Given the description of an element on the screen output the (x, y) to click on. 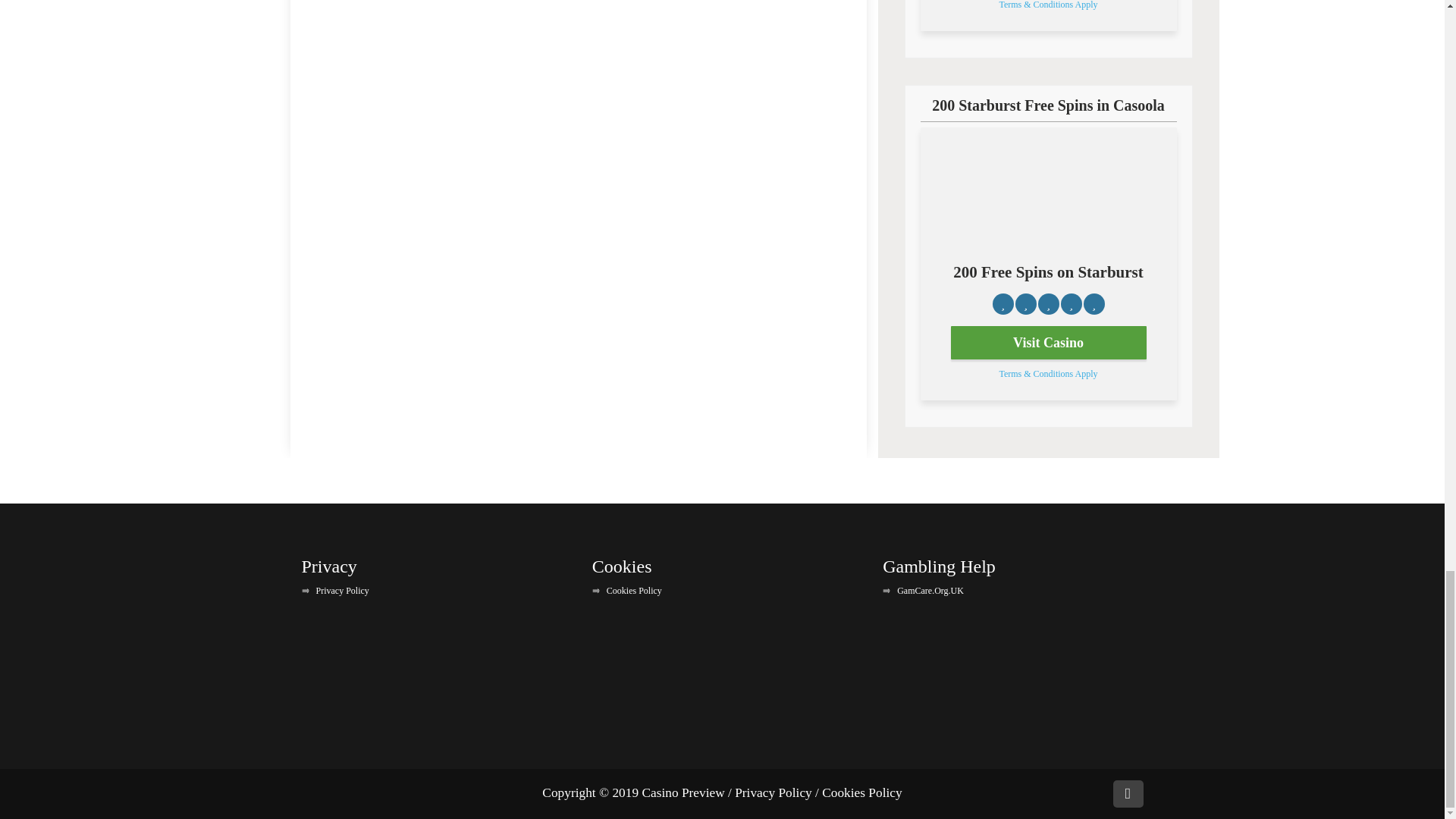
Visit Casino (1048, 342)
